Given the description of an element on the screen output the (x, y) to click on. 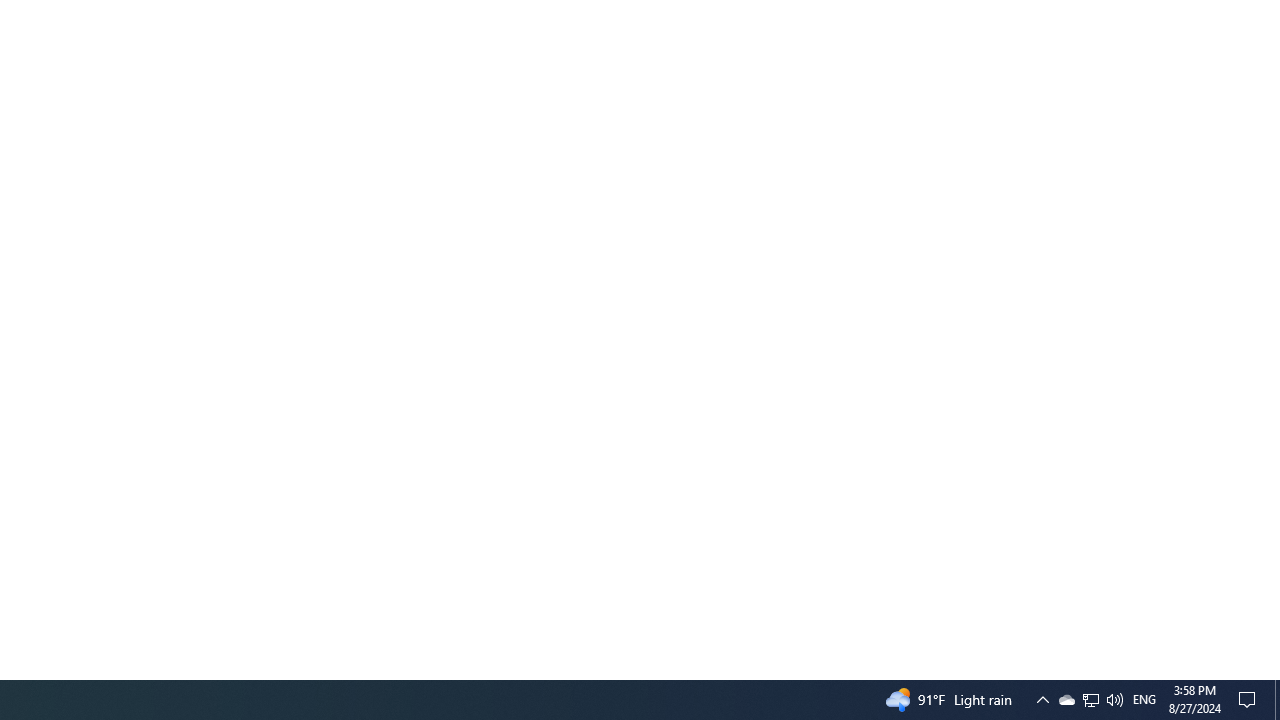
Action Center, No new notifications (1066, 699)
Notification Chevron (1250, 699)
Show desktop (1042, 699)
User Promoted Notification Area (1277, 699)
Q2790: 100% (1090, 699)
Tray Input Indicator - English (United States) (1091, 699)
